Given the description of an element on the screen output the (x, y) to click on. 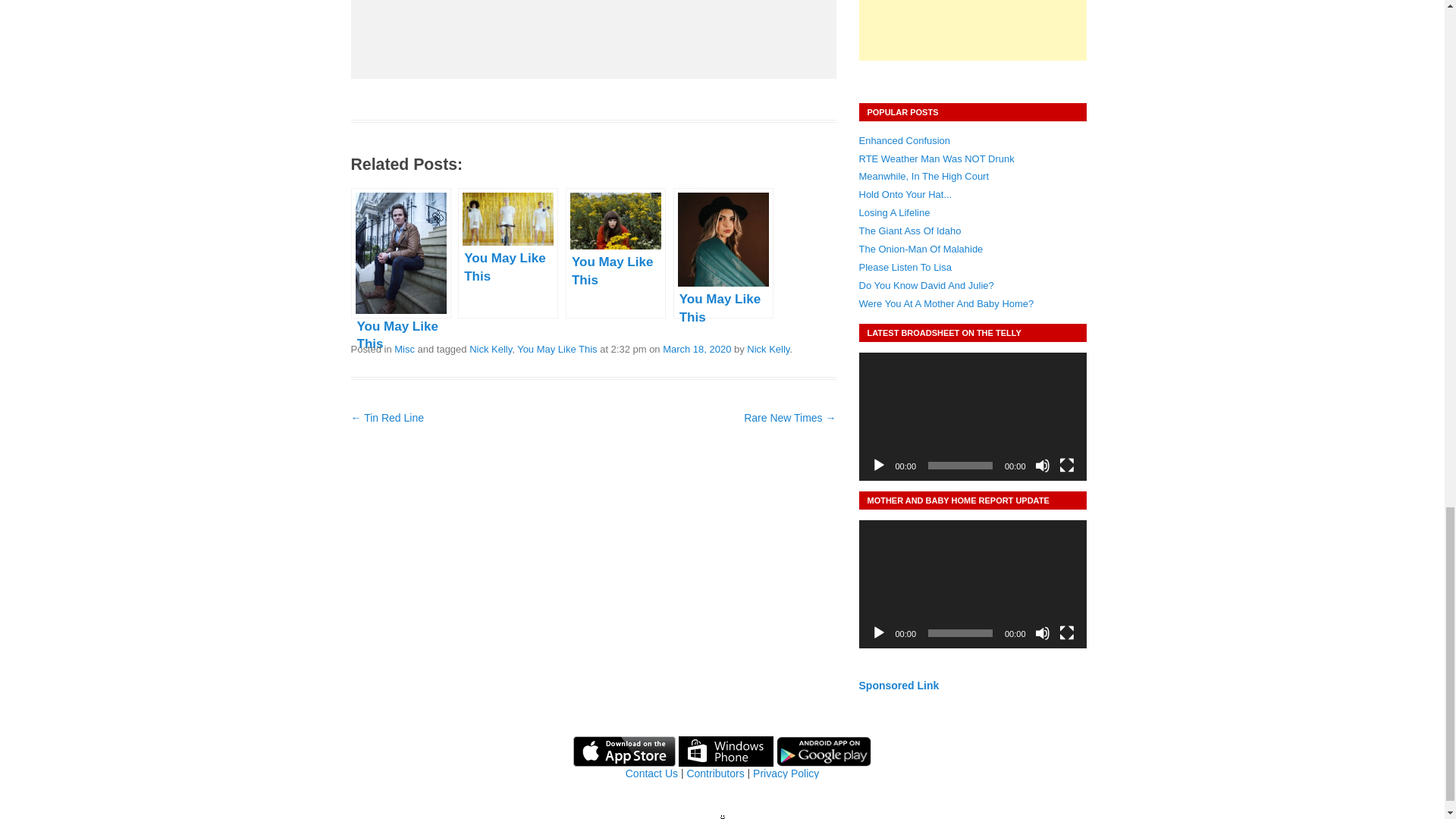
2:32 pm (696, 348)
Misc (404, 348)
March 18, 2020 (696, 348)
You May Like This (556, 348)
Nick Kelly (490, 348)
